Given the description of an element on the screen output the (x, y) to click on. 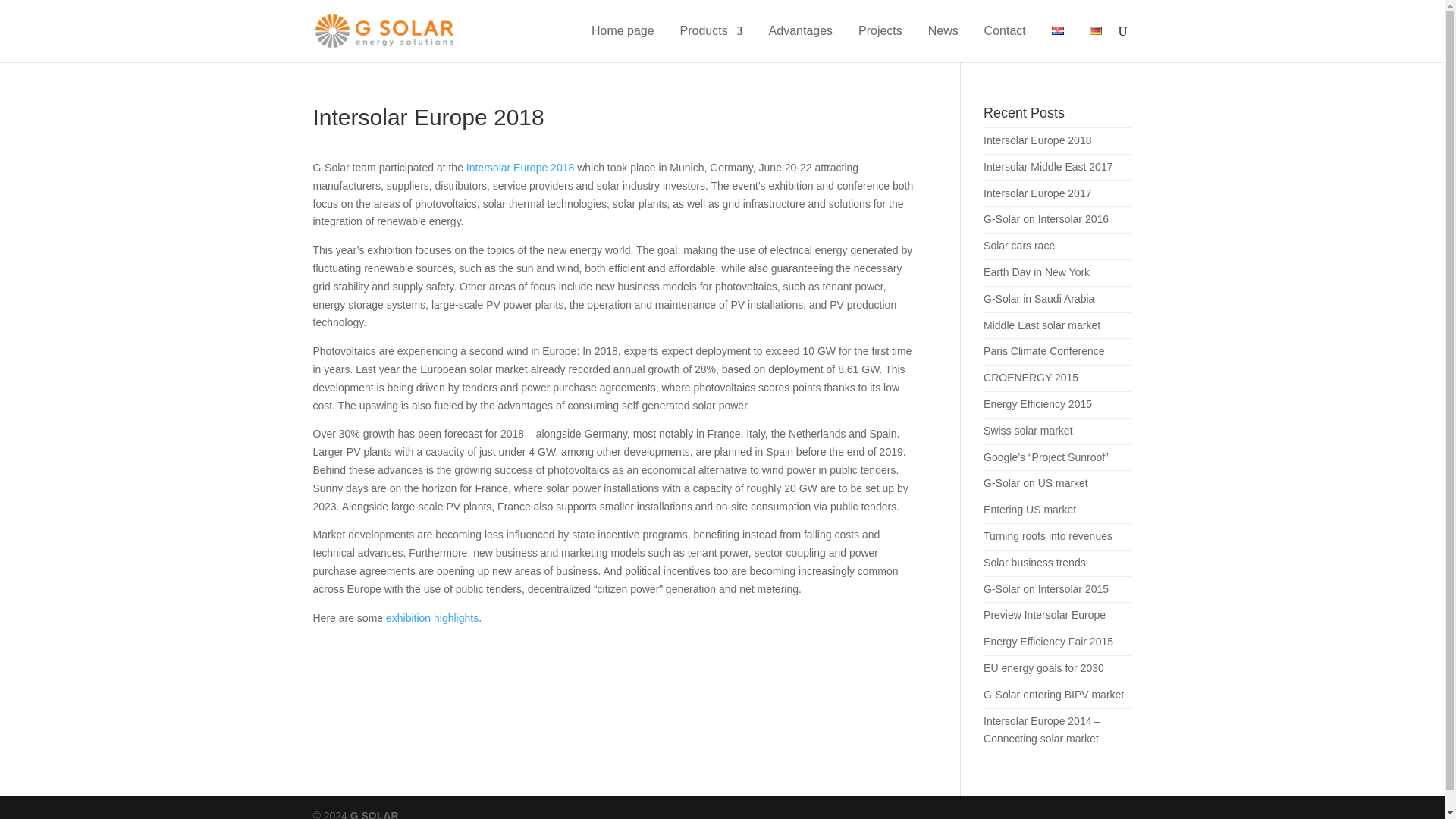
Products (710, 43)
Deutsch (1094, 30)
Intersolar Europe 2017 (1037, 193)
Contact (1005, 43)
Intersolar Middle East 2017 (1048, 166)
G SOLAR (372, 814)
Hrvatski (1057, 30)
G-Solar on Intersolar 2016 (1046, 218)
Advantages (800, 43)
Solar cars race (1019, 245)
